Given the description of an element on the screen output the (x, y) to click on. 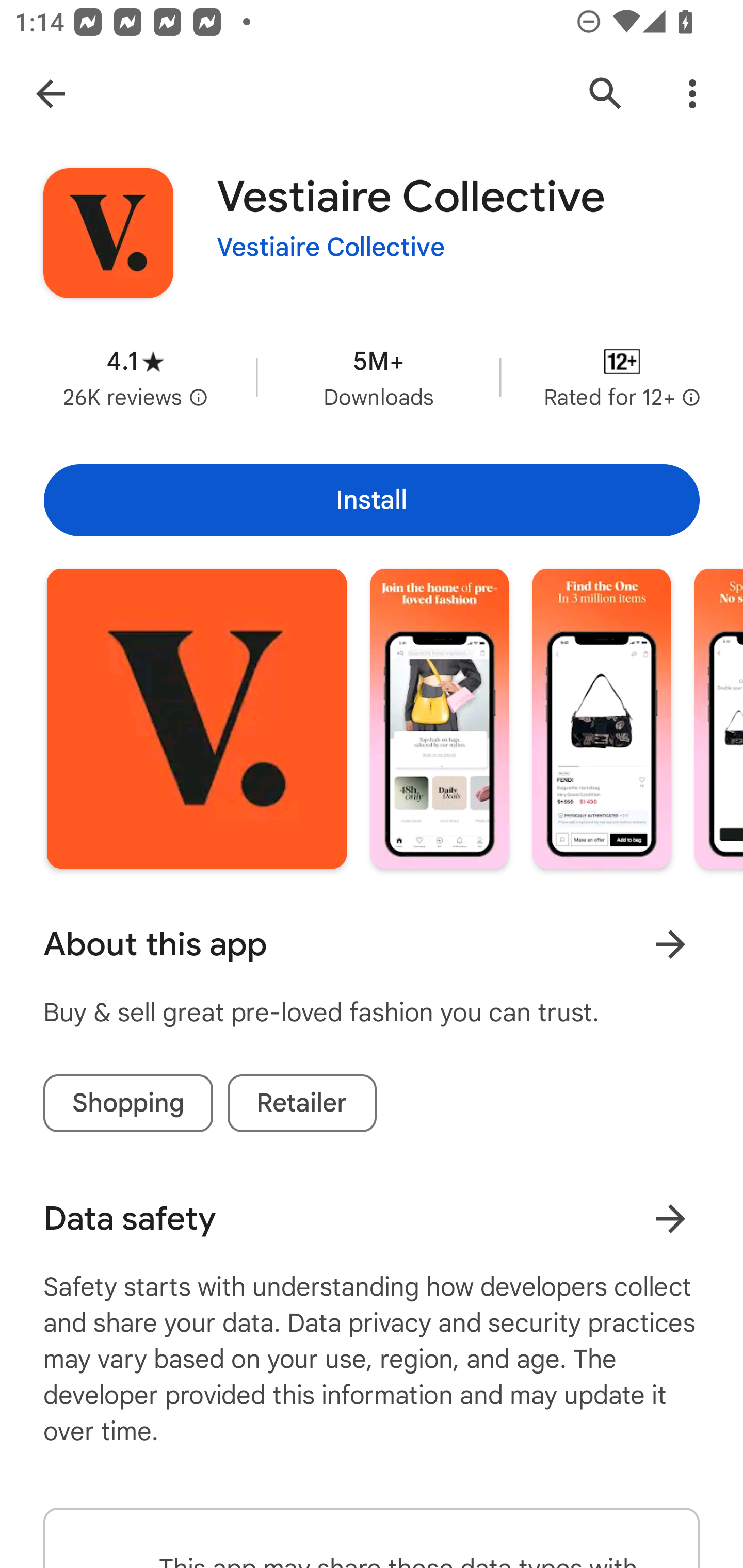
Navigate up (50, 93)
Search Google Play (605, 93)
More Options (692, 93)
Vestiaire Collective (330, 247)
Average rating 4.1 stars in 26 thousand reviews (135, 377)
Content rating Rated for 12+ (622, 377)
Install (371, 500)
Screenshot "1" of "7" (196, 718)
Screenshot "2" of "7" (439, 718)
Screenshot "3" of "7" (601, 718)
About this app Learn more About this app (371, 944)
Learn more About this app (670, 944)
Shopping tag (128, 1102)
Retailer tag (301, 1102)
Data safety Learn more about data safety (371, 1219)
Learn more about data safety (670, 1219)
